Given the description of an element on the screen output the (x, y) to click on. 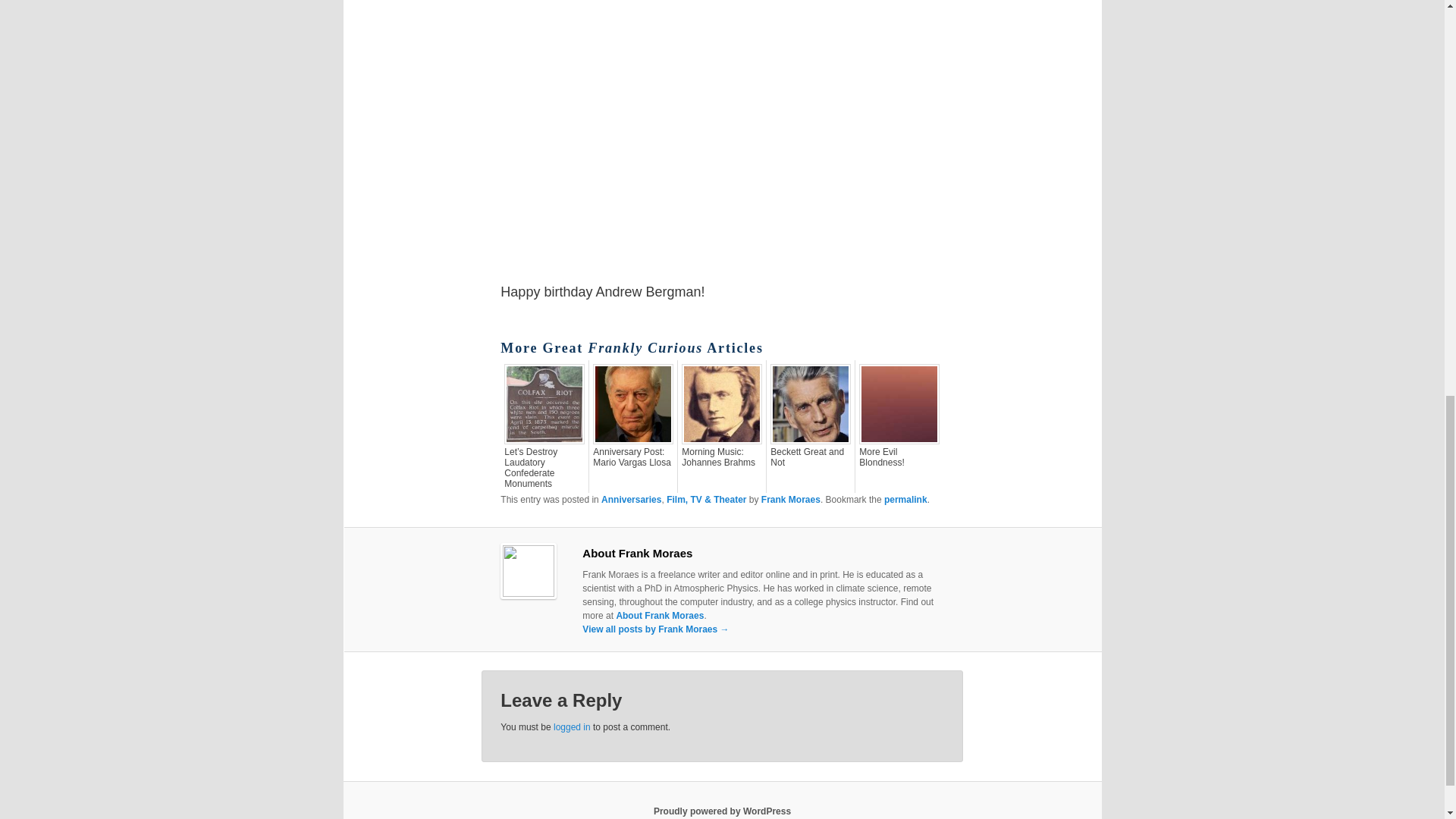
More Evil Blondness! (899, 456)
permalink (905, 499)
Anniversaries (631, 499)
Frank Moraes (791, 499)
Semantic Personal Publishing Platform (721, 810)
Beckett Great and Not (810, 456)
Morning Music: Johannes Brahms (721, 456)
Permalink to Andrew Bergman (905, 499)
Anniversary Post: Mario Vargas Llosa (632, 456)
